Given the description of an element on the screen output the (x, y) to click on. 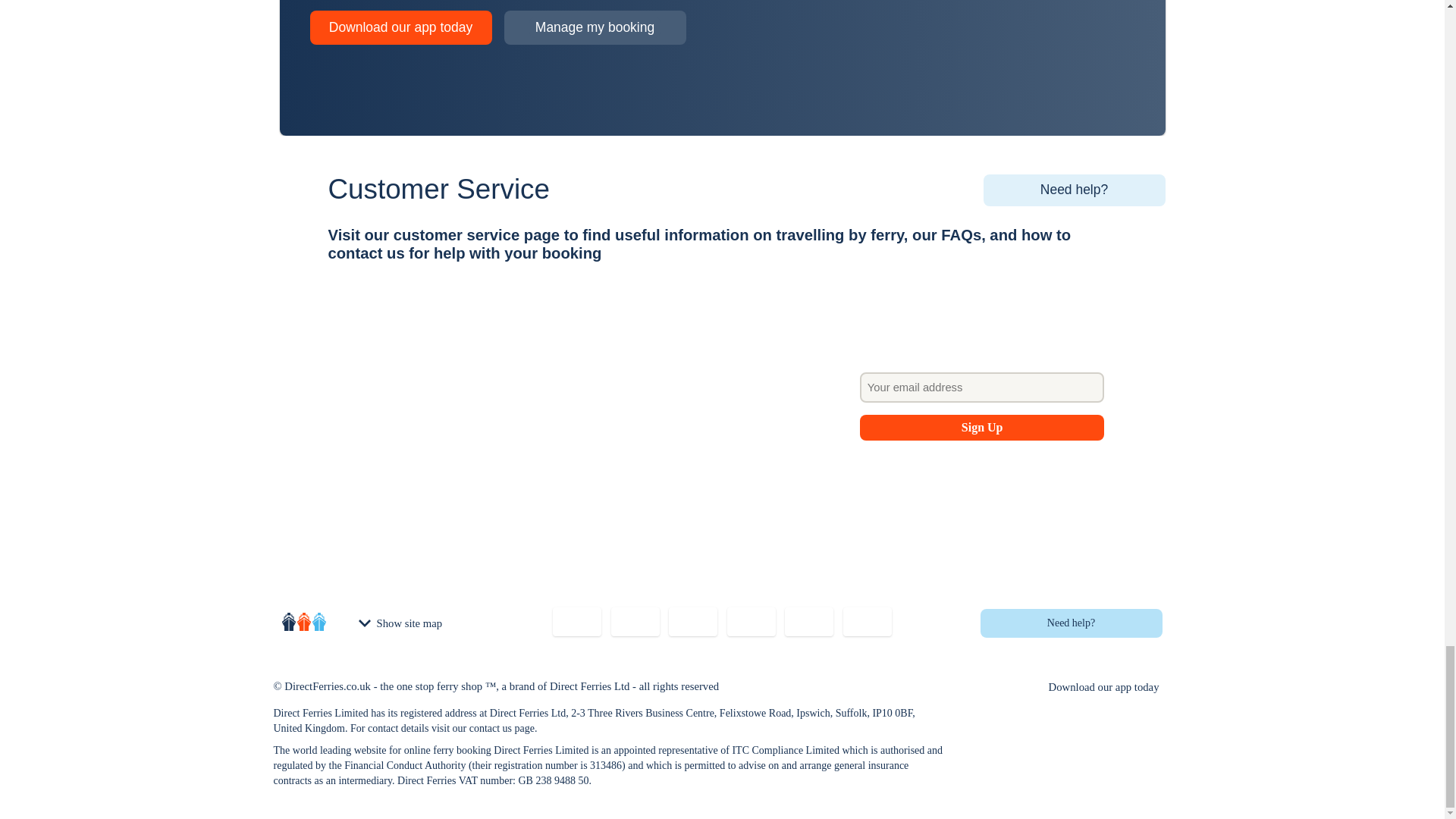
Sign Up (982, 427)
